Given the description of an element on the screen output the (x, y) to click on. 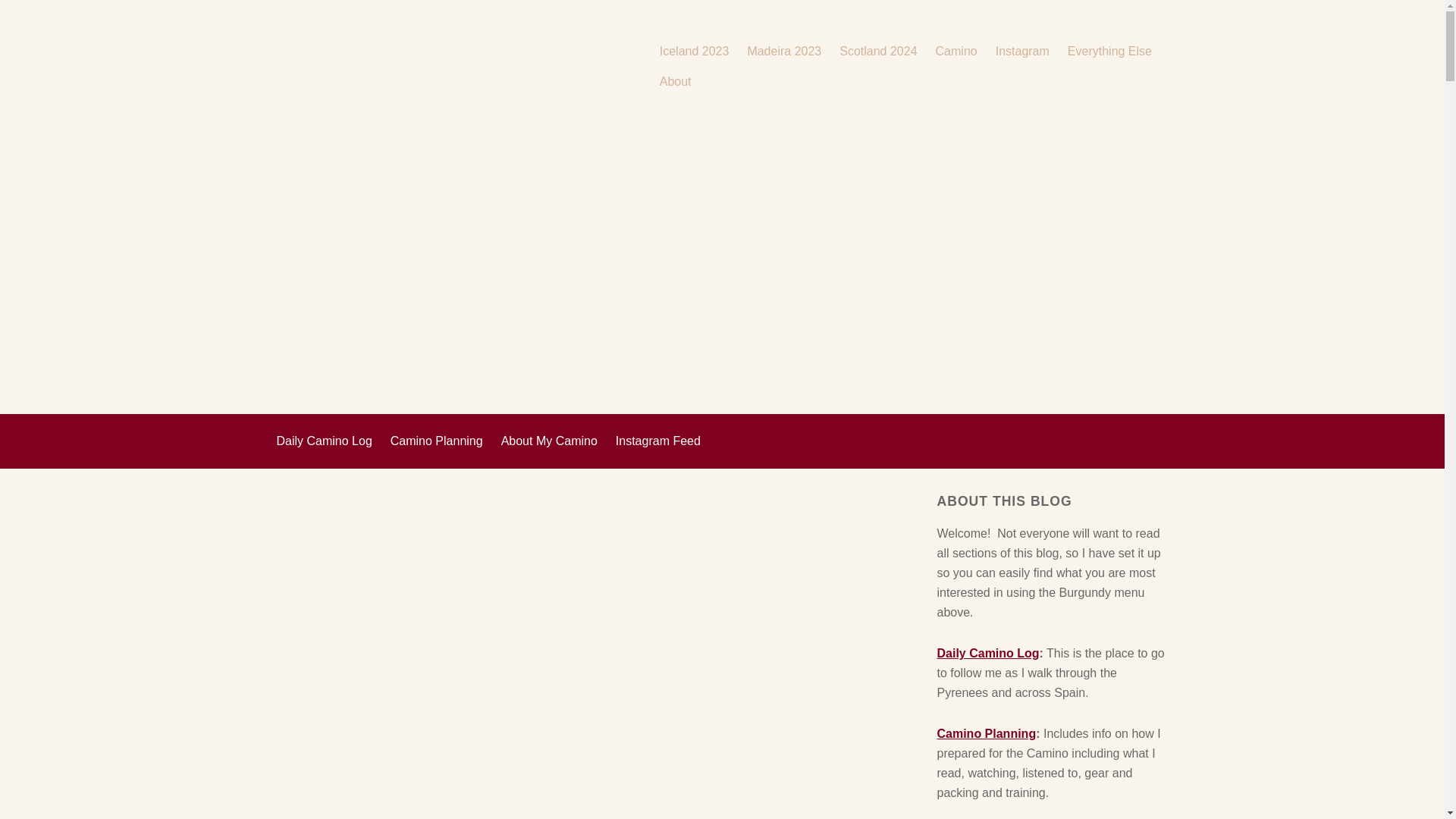
About (675, 81)
Instagram Feed (657, 440)
Madeira 2023 (783, 51)
Robin McDermott (457, 66)
Daily Camino Log (987, 653)
Camino (956, 51)
About My Camino (548, 440)
Iceland 2023 (694, 51)
Everything Else (1109, 51)
Daily Camino Log (323, 440)
Instagram (1022, 51)
Scotland 2024 (878, 51)
Camino Planning (985, 733)
Camino Planning (436, 440)
